Given the description of an element on the screen output the (x, y) to click on. 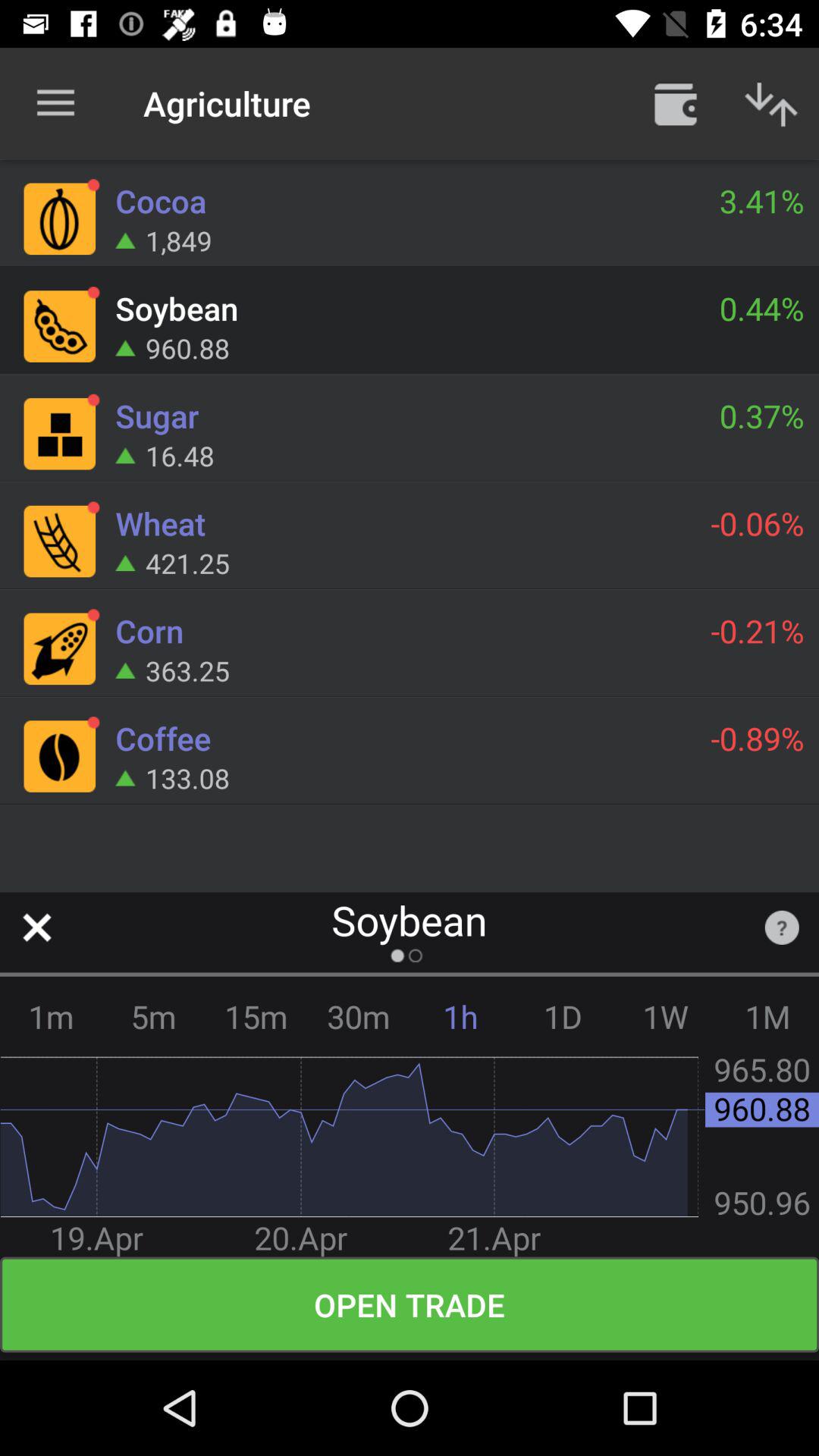
change low to high (771, 103)
